Given the description of an element on the screen output the (x, y) to click on. 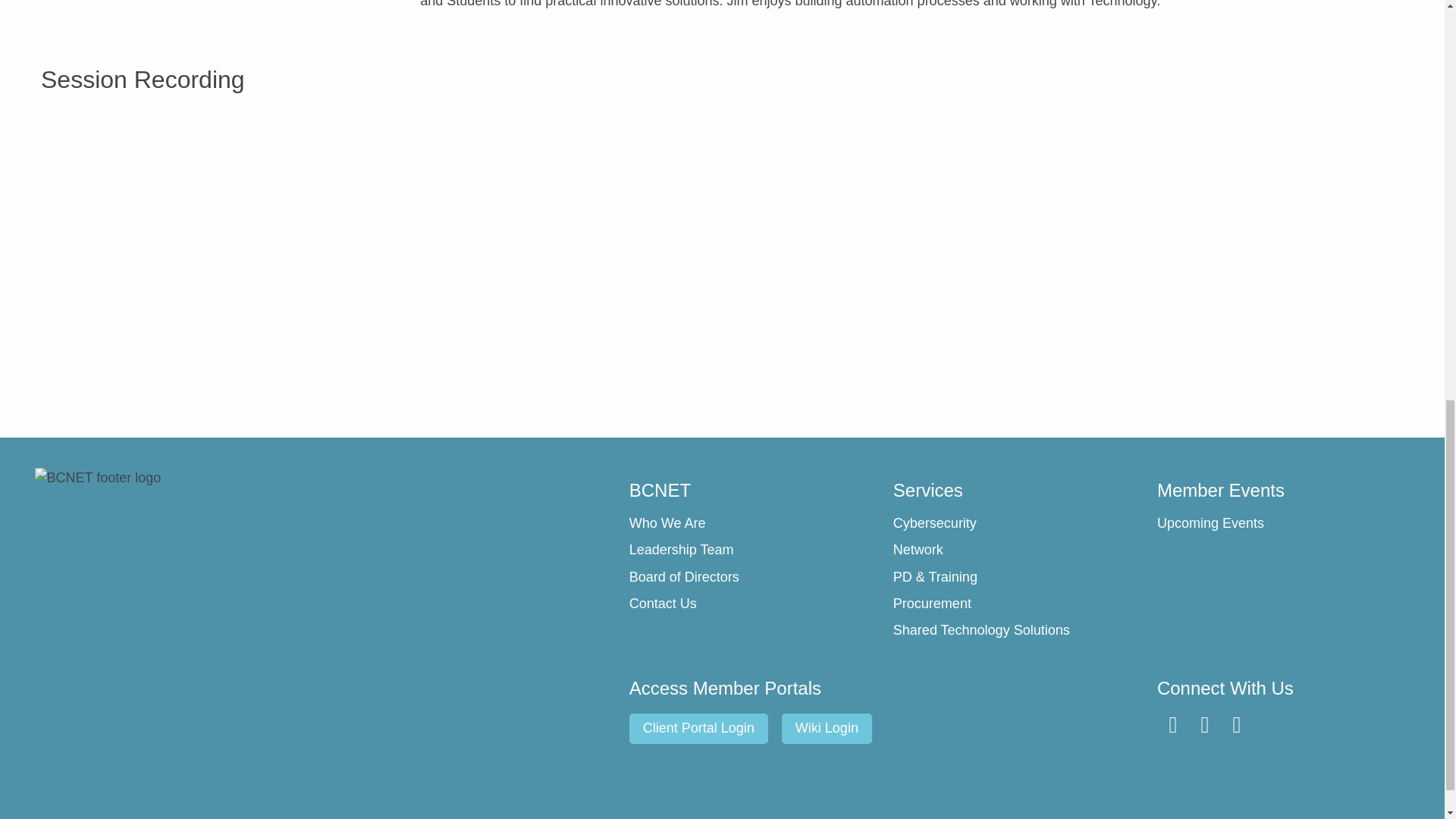
Cybersecurity (1017, 523)
Contact Us (752, 604)
Leadership Team (752, 550)
Network (1017, 550)
Board of Directors (752, 577)
Who We Are (752, 523)
